Given the description of an element on the screen output the (x, y) to click on. 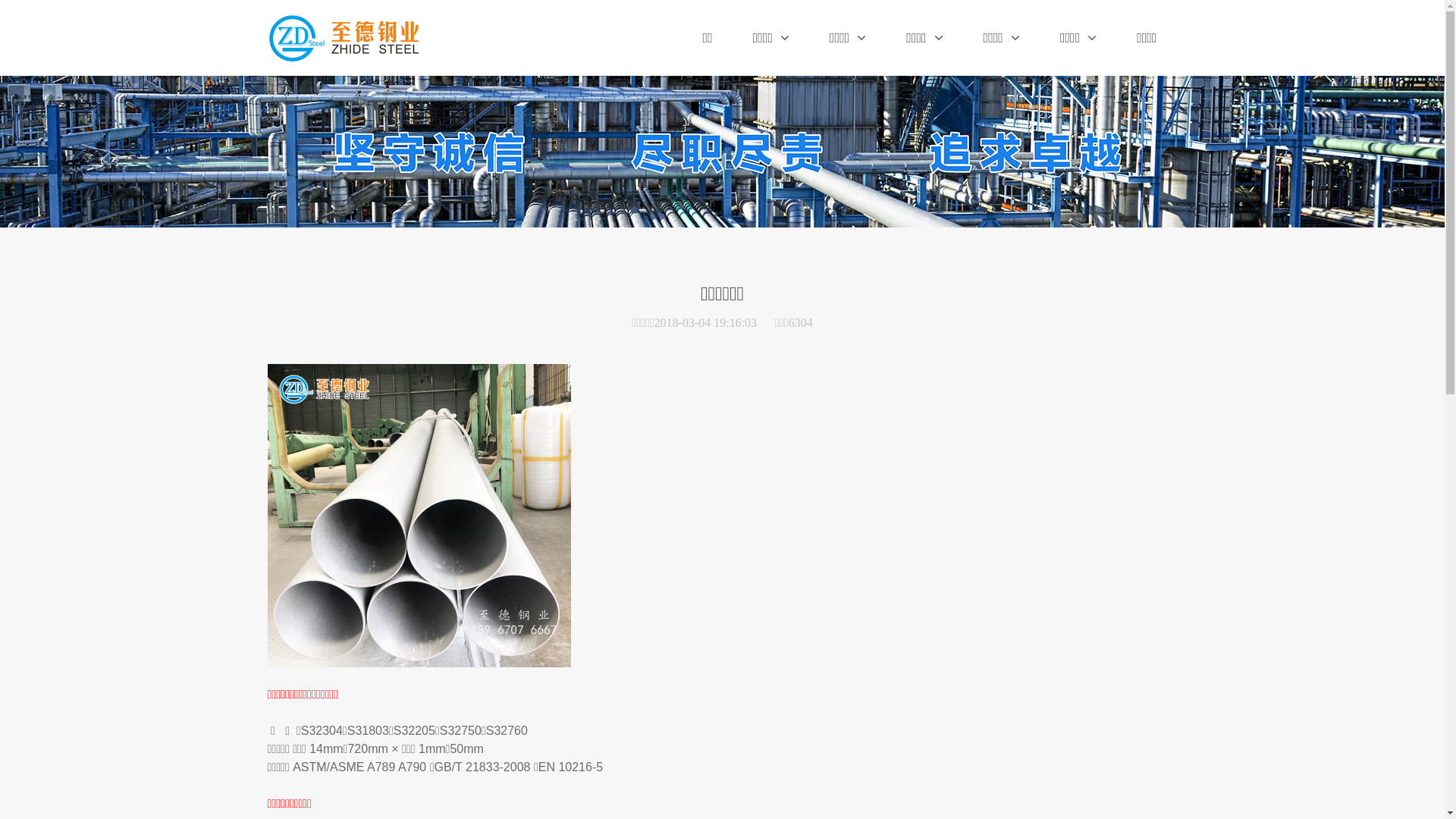
04.jpg Element type: hover (418, 515)
